Given the description of an element on the screen output the (x, y) to click on. 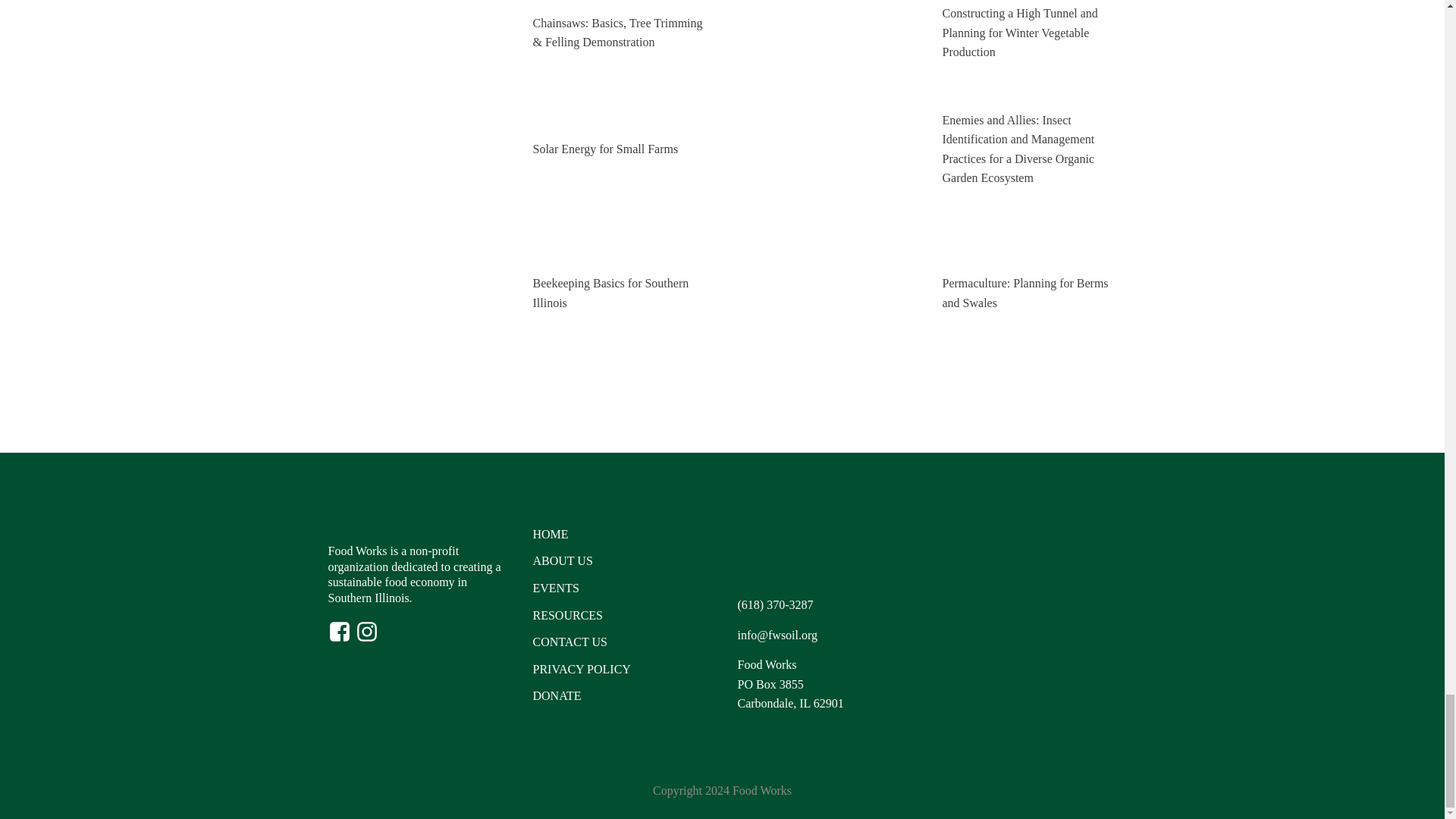
RESOURCES (567, 615)
EVENTS (555, 588)
HOME (549, 534)
ABOUT US (562, 560)
